Given the description of an element on the screen output the (x, y) to click on. 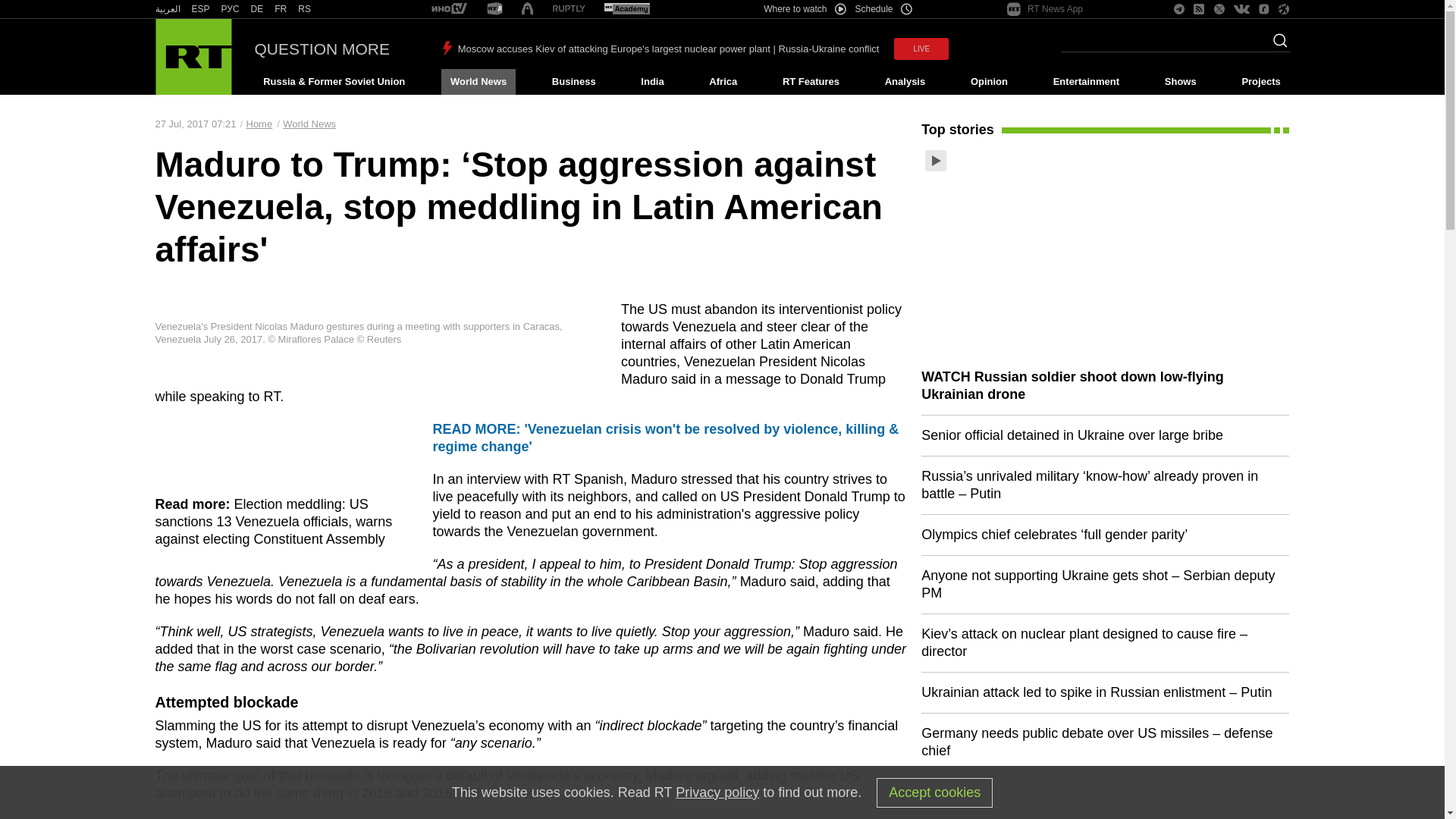
Shows (1180, 81)
ESP (199, 9)
Entertainment (1085, 81)
RT  (626, 9)
RT Features (810, 81)
Opinion (988, 81)
FR (280, 9)
World News (478, 81)
RS (304, 9)
Search (1276, 44)
